Given the description of an element on the screen output the (x, y) to click on. 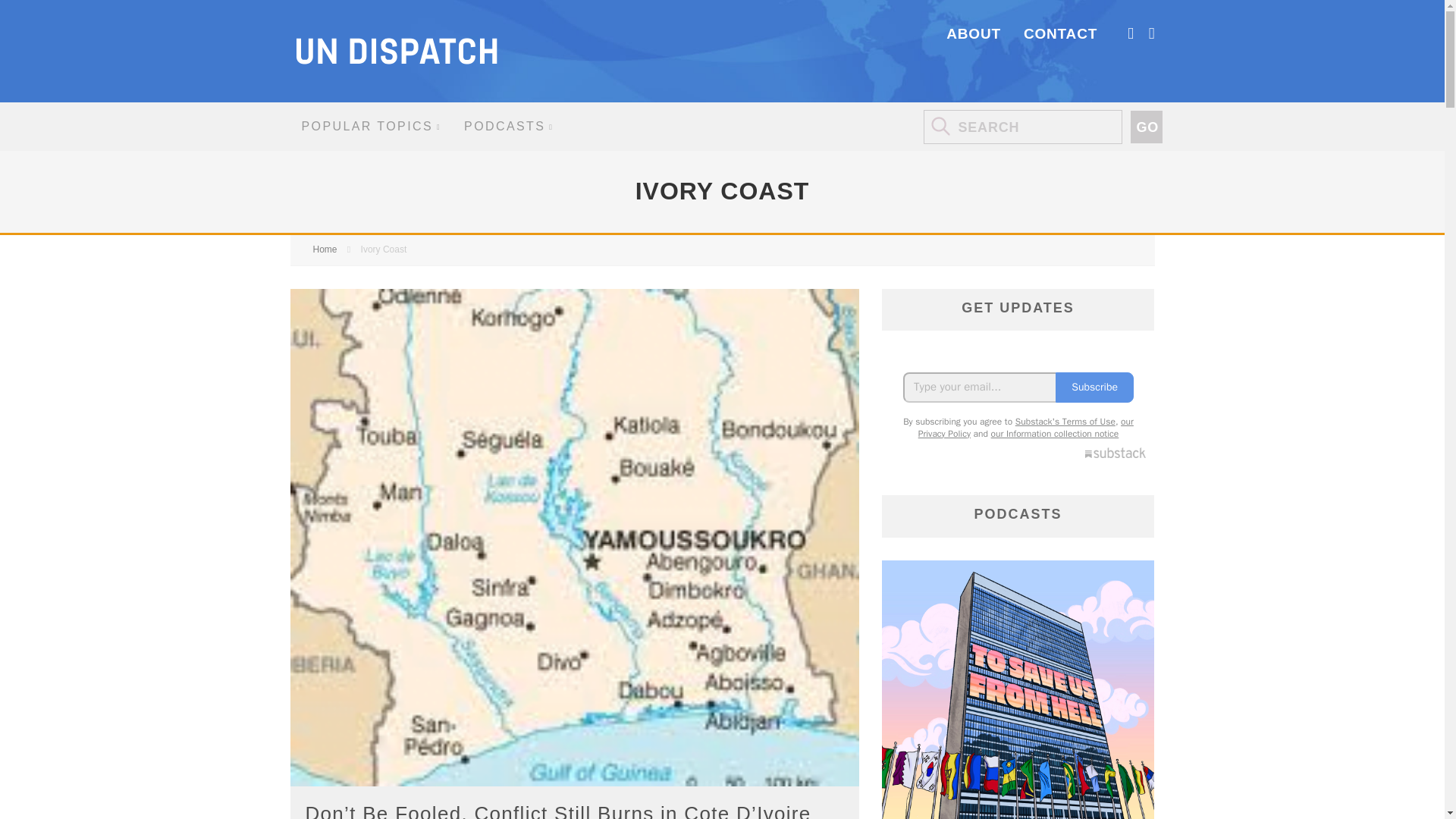
PODCASTS (508, 126)
Go (1145, 126)
Go (1145, 126)
CONTACT (1060, 33)
ABOUT (973, 33)
Home (324, 249)
Go (1145, 126)
POPULAR TOPICS (370, 126)
